Given the description of an element on the screen output the (x, y) to click on. 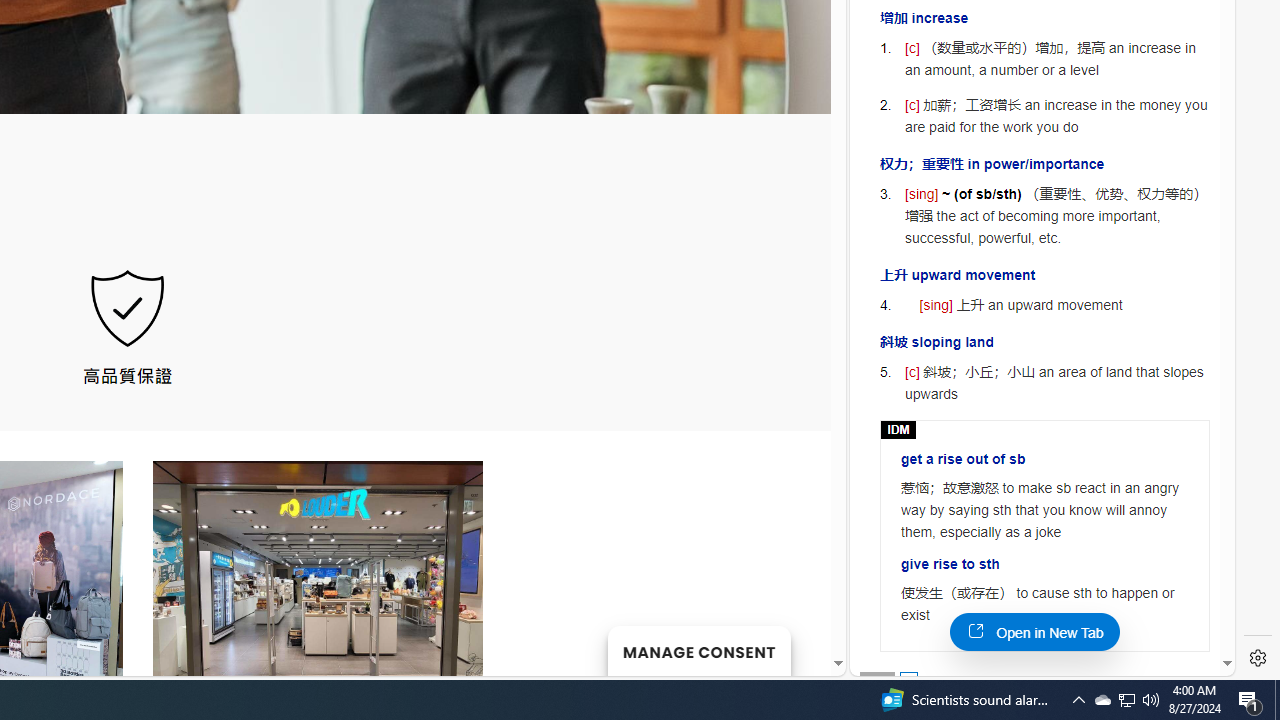
MANAGE CONSENT (698, 650)
AutomationID: posbtn_1 (908, 680)
